Given the description of an element on the screen output the (x, y) to click on. 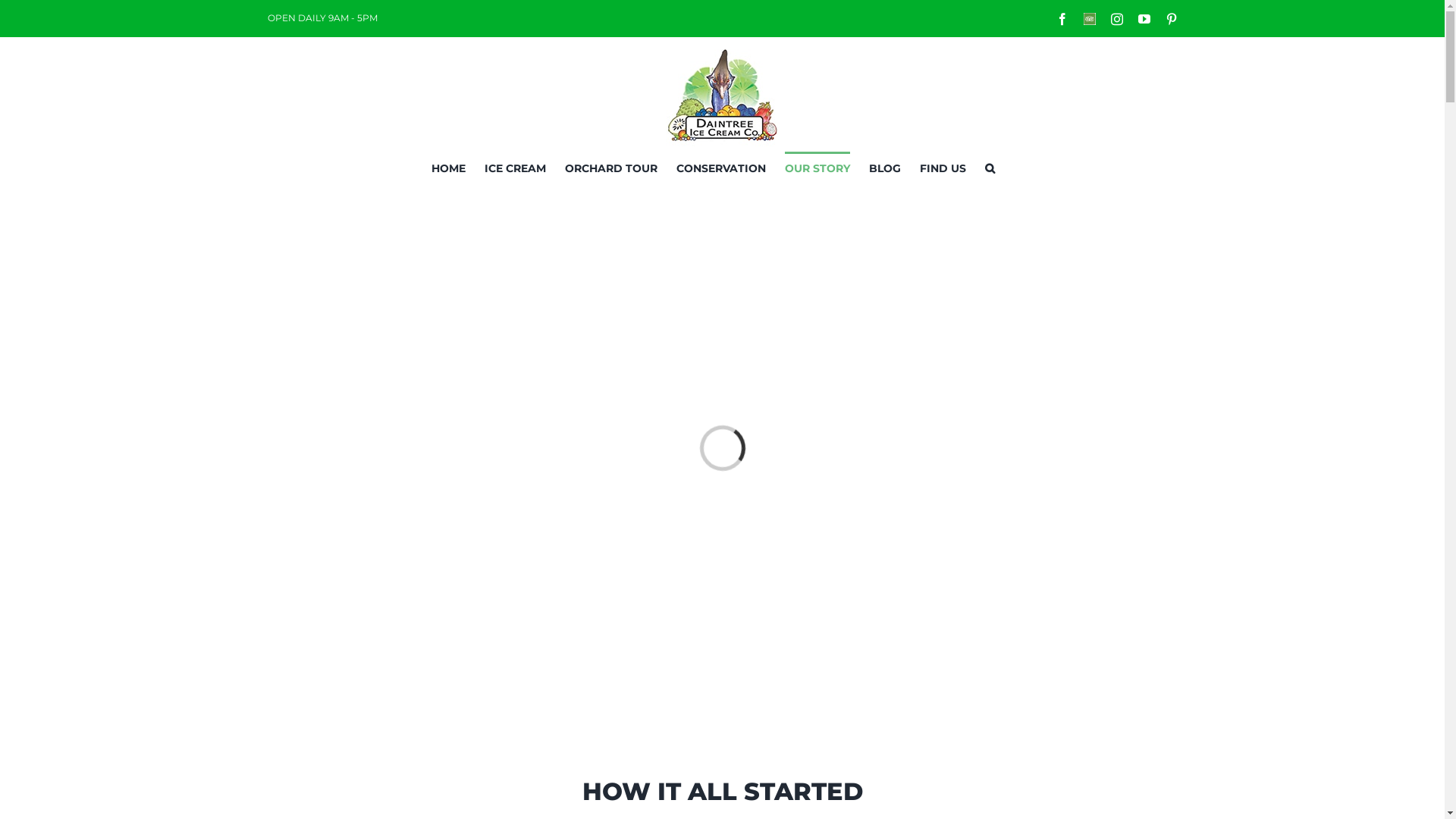
HOME Element type: text (447, 166)
FIND US Element type: text (942, 166)
Pinterest Element type: text (1170, 18)
Instagram Element type: text (1116, 18)
Search Element type: hover (989, 166)
CONSERVATION Element type: text (720, 166)
Facebook Element type: text (1061, 18)
YouTube Element type: text (1143, 18)
ICE CREAM Element type: text (514, 166)
OUR STORY Element type: text (816, 166)
Custom Element type: text (1088, 18)
ORCHARD TOUR Element type: text (610, 166)
BLOG Element type: text (884, 166)
